Given the description of an element on the screen output the (x, y) to click on. 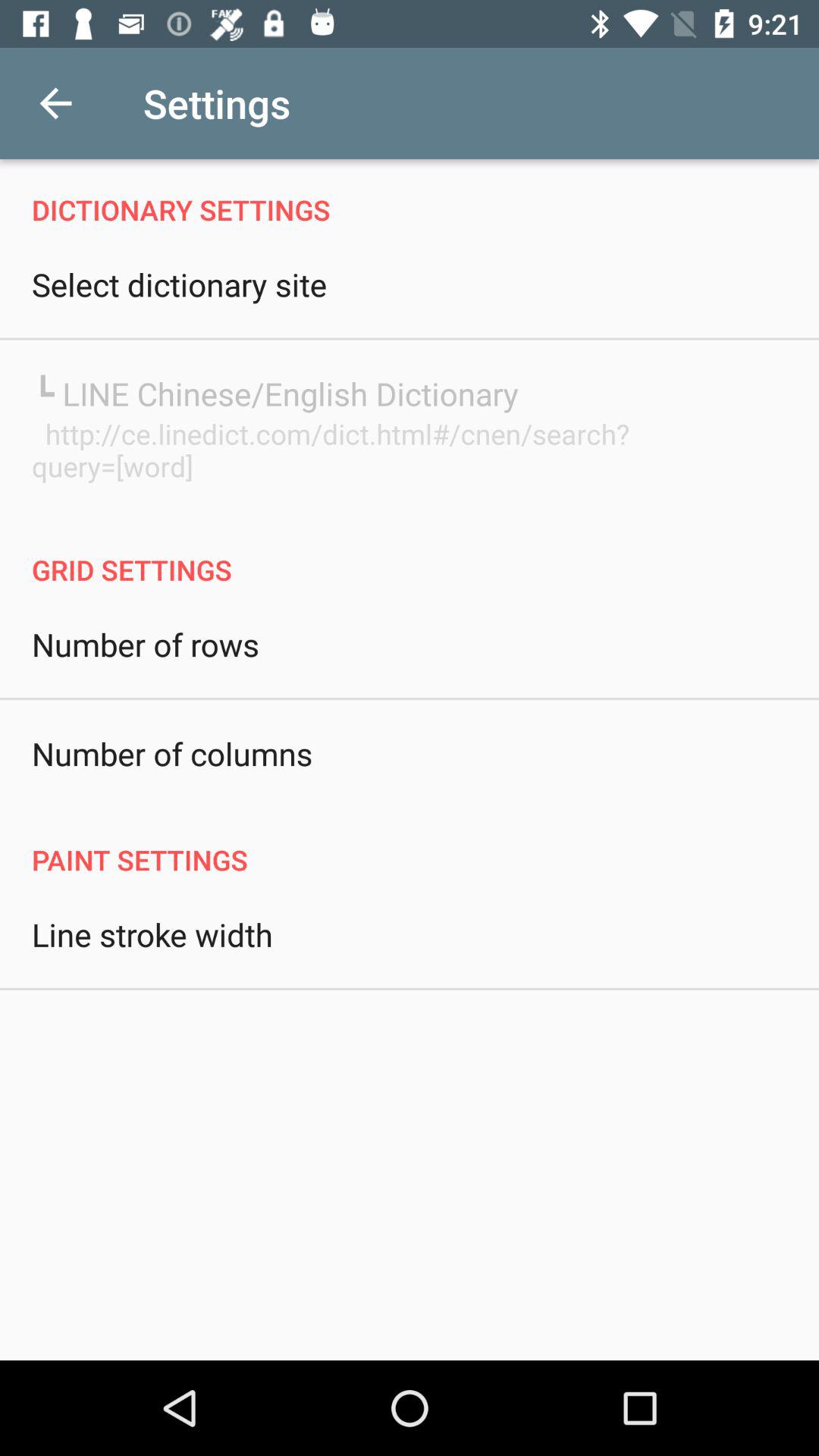
turn off the item above the http ce linedict (274, 393)
